Given the description of an element on the screen output the (x, y) to click on. 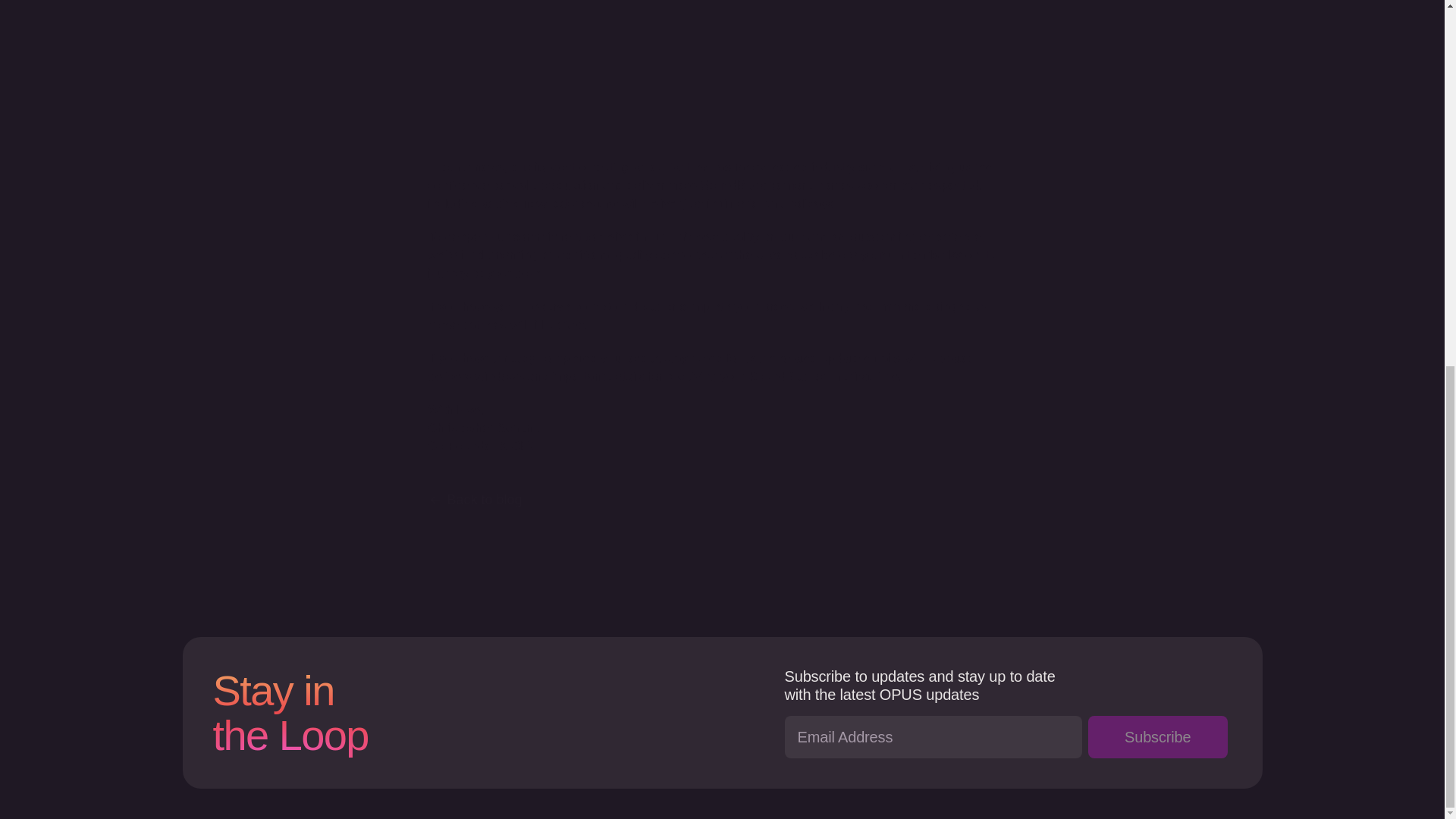
doing so as these batches will fill up fast. (709, 315)
Back to blog (722, 499)
Back to blog (722, 499)
Subscribe (1157, 736)
